Given the description of an element on the screen output the (x, y) to click on. 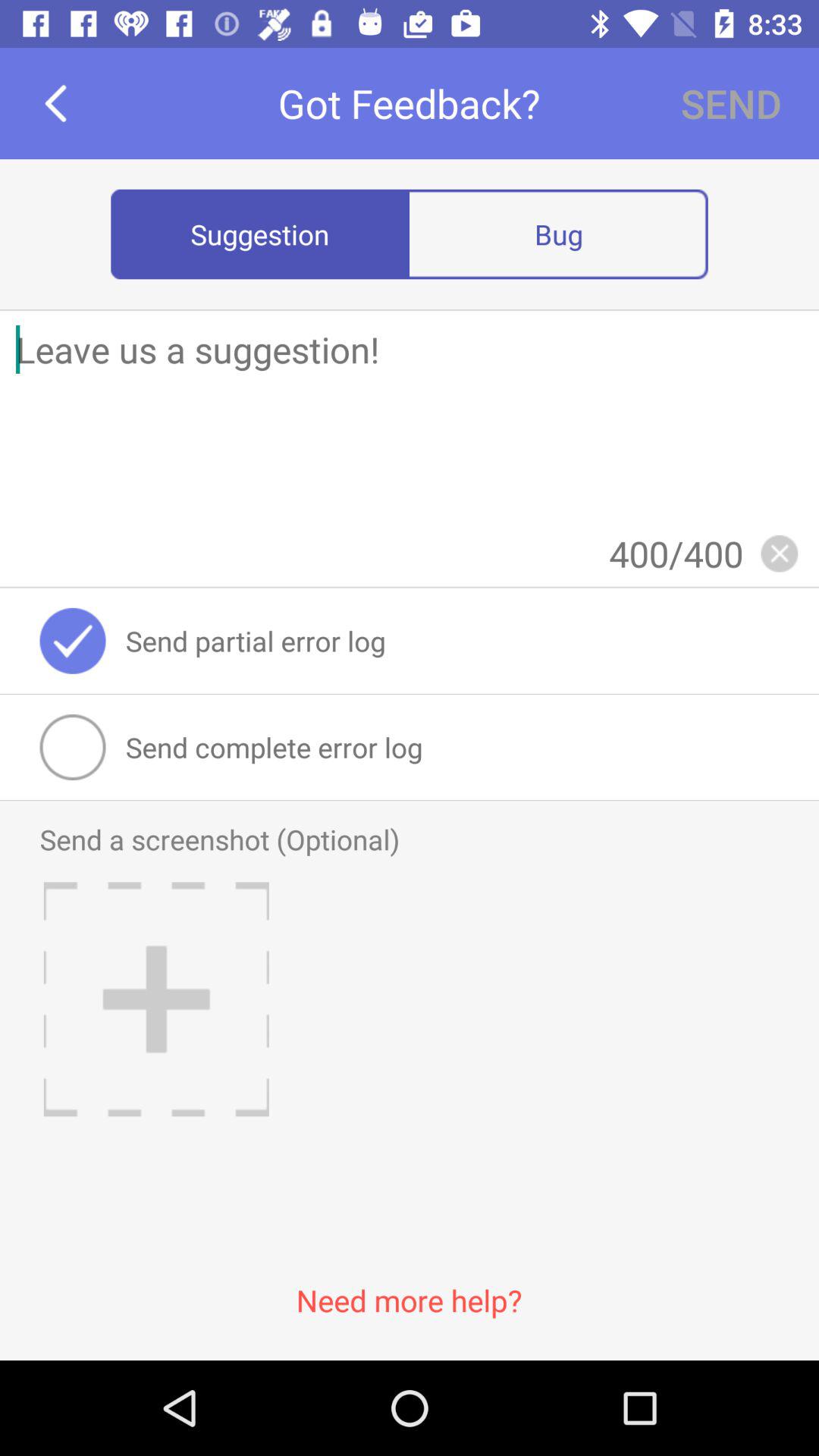
click the app to the left of send partial error icon (72, 640)
